Given the description of an element on the screen output the (x, y) to click on. 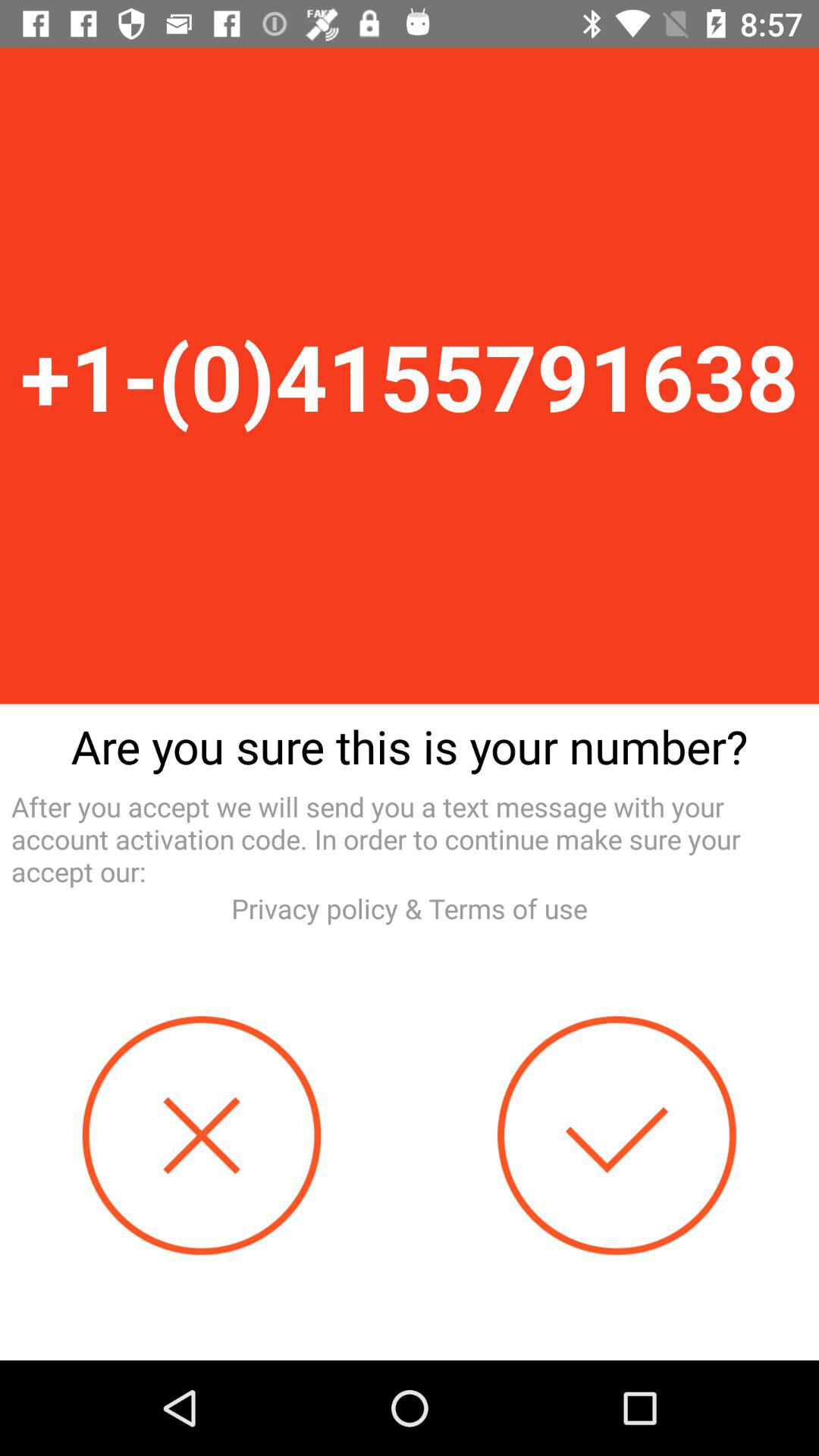
launch icon below after you accept (409, 908)
